Given the description of an element on the screen output the (x, y) to click on. 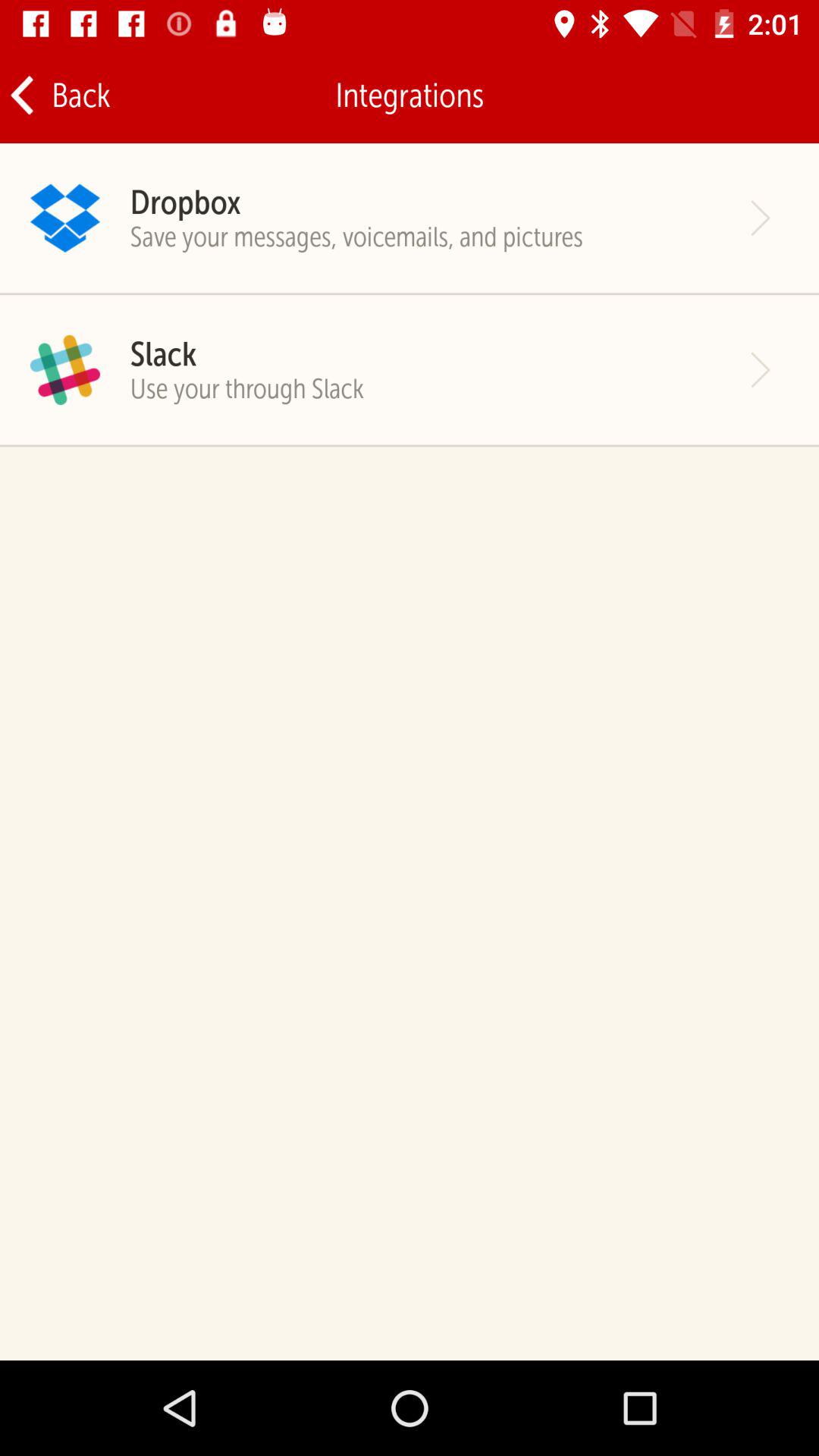
jump to the dropbox (185, 202)
